Given the description of an element on the screen output the (x, y) to click on. 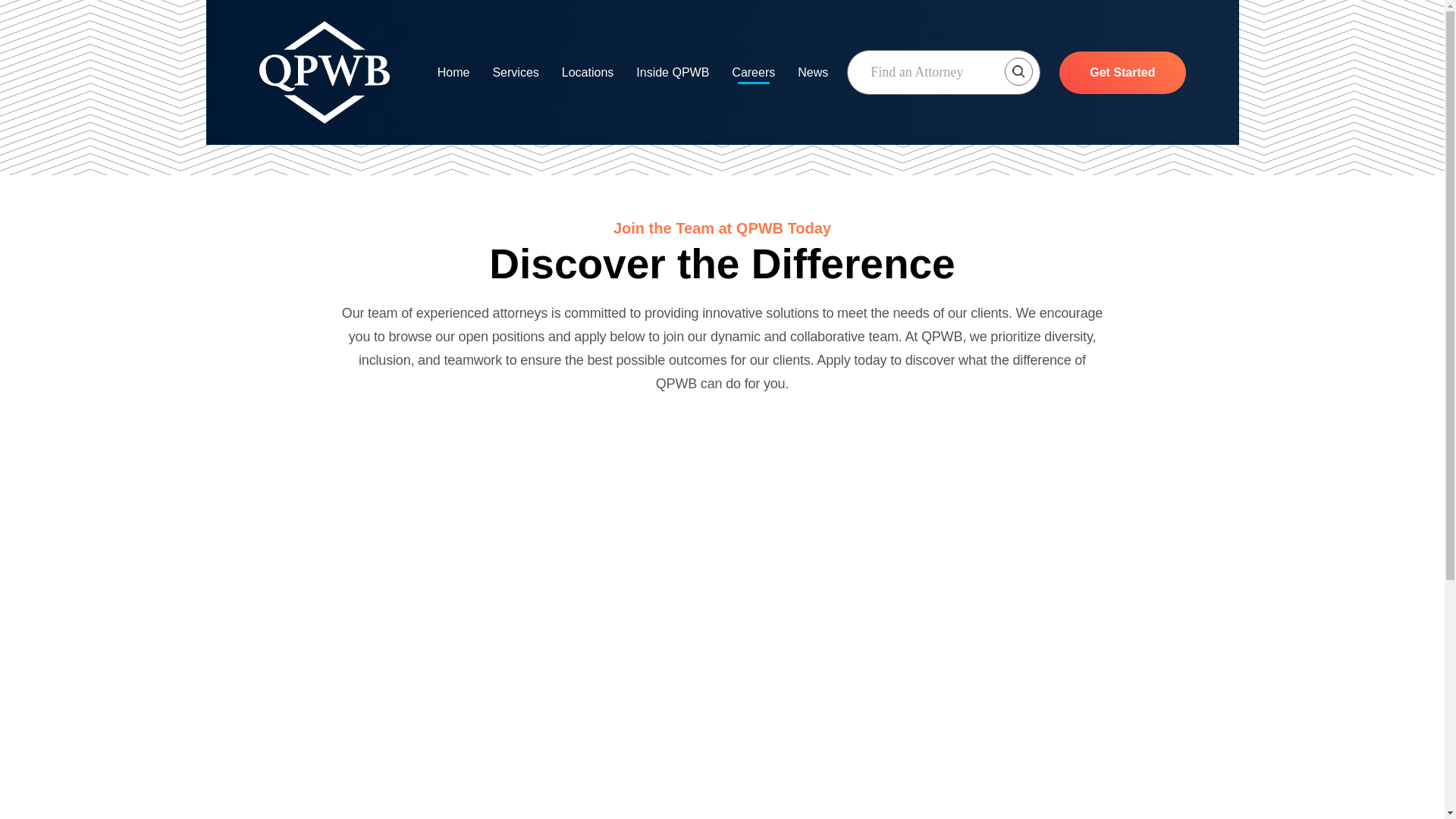
Search (944, 72)
Inside QPWB (672, 72)
Services (515, 72)
Get Started (1122, 72)
Careers (753, 72)
Locations (588, 72)
Home (454, 72)
News (812, 72)
